Given the description of an element on the screen output the (x, y) to click on. 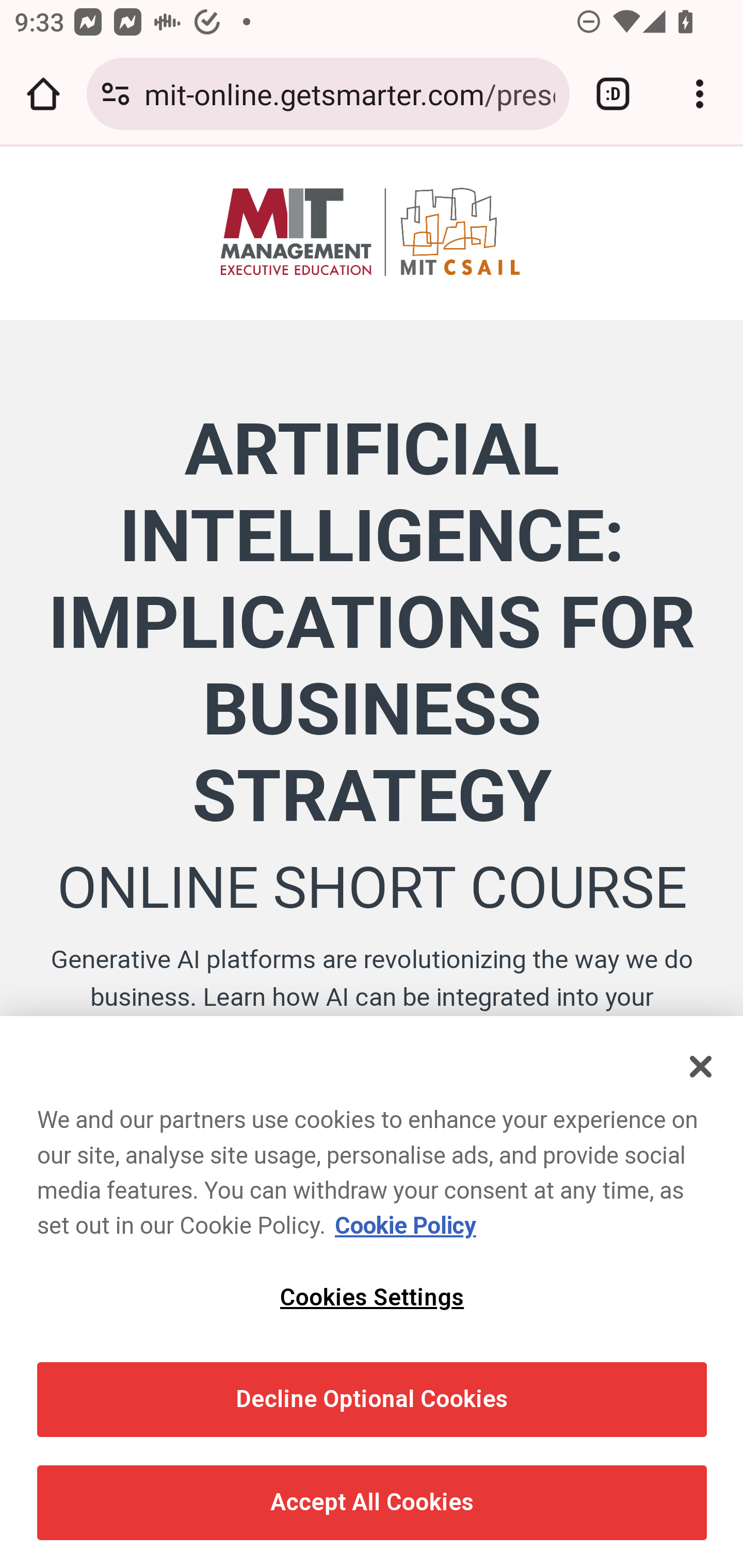
Open the home page (43, 93)
Connection is secure (115, 93)
Switch or close tabs (612, 93)
Customize and control Google Chrome (699, 93)
Close (701, 1066)
VIEW COURSE BROCHURE (371, 1152)
Cookies Settings (372, 1297)
Decline Optional Cookies (372, 1399)
Accept All Cookies (372, 1502)
